Given the description of an element on the screen output the (x, y) to click on. 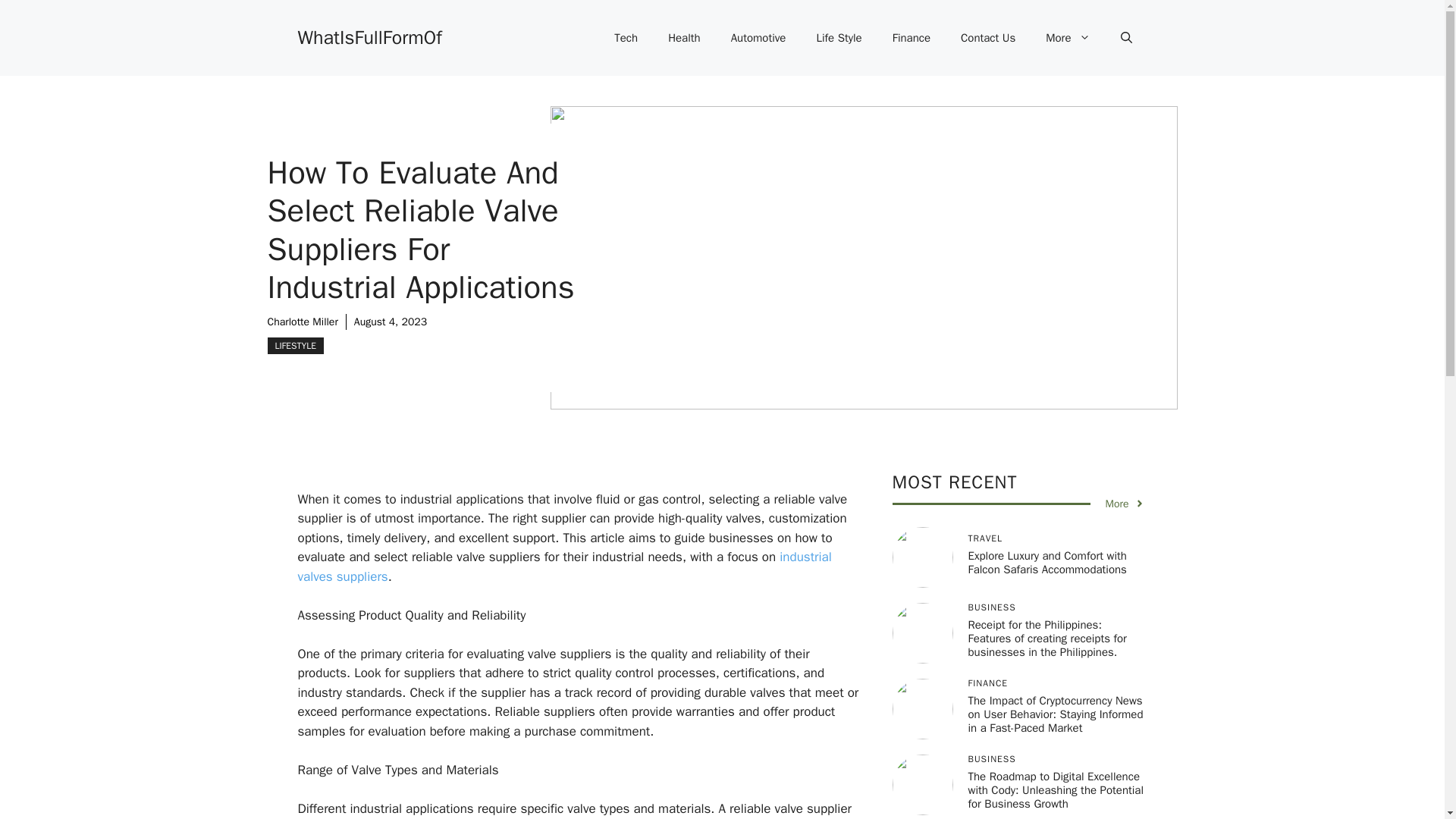
LIFESTYLE (294, 345)
Charlotte Miller (301, 321)
More (1124, 503)
Contact Us (987, 37)
Automotive (759, 37)
industrial valves suppliers (564, 566)
Finance (910, 37)
WhatIsFullFormOf (369, 37)
Life Style (838, 37)
More (1067, 37)
Health (684, 37)
Tech (625, 37)
